Given the description of an element on the screen output the (x, y) to click on. 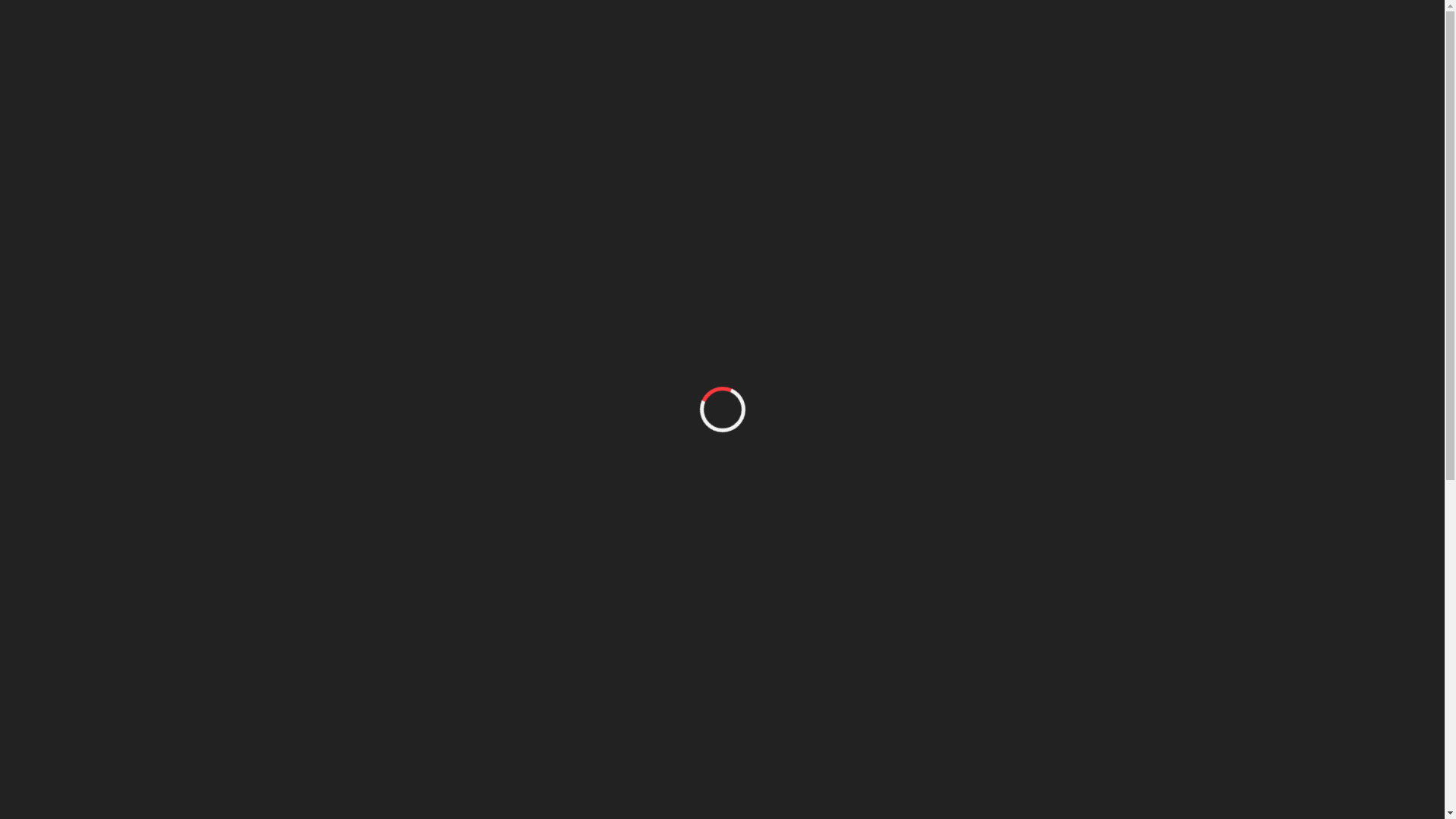
Subscribe Element type: text (679, 666)
Home Element type: text (683, 263)
SIGN IN Element type: text (711, 237)
